Given the description of an element on the screen output the (x, y) to click on. 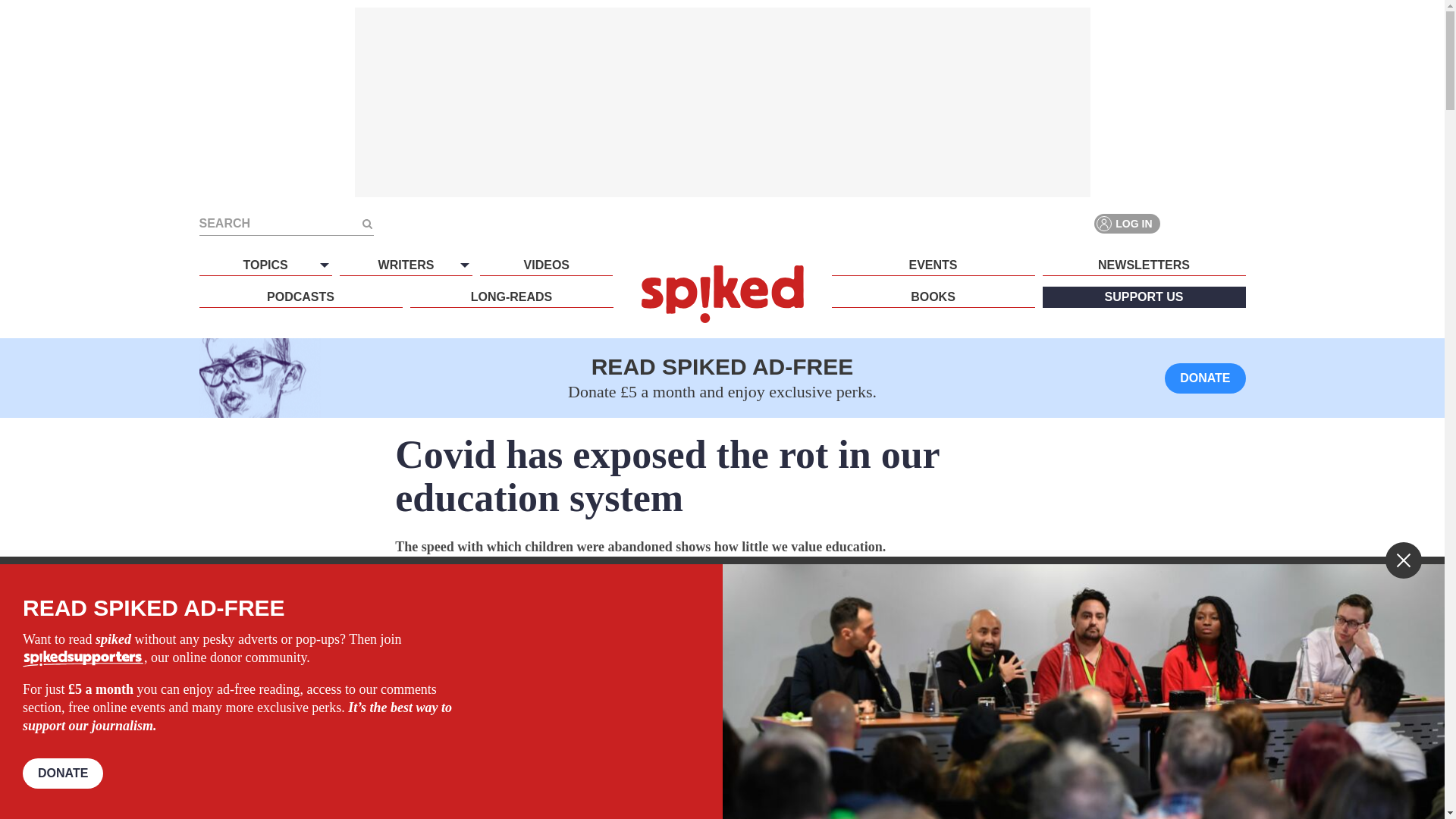
SUPPORT US (1143, 296)
Twitter (1207, 223)
BOOKS (932, 296)
LOG IN (1126, 223)
EVENTS (932, 265)
YouTube (1234, 223)
WRITERS (405, 265)
NEWSLETTERS (1143, 265)
PODCASTS (299, 296)
spiked - humanity is underrated (722, 293)
